Given the description of an element on the screen output the (x, y) to click on. 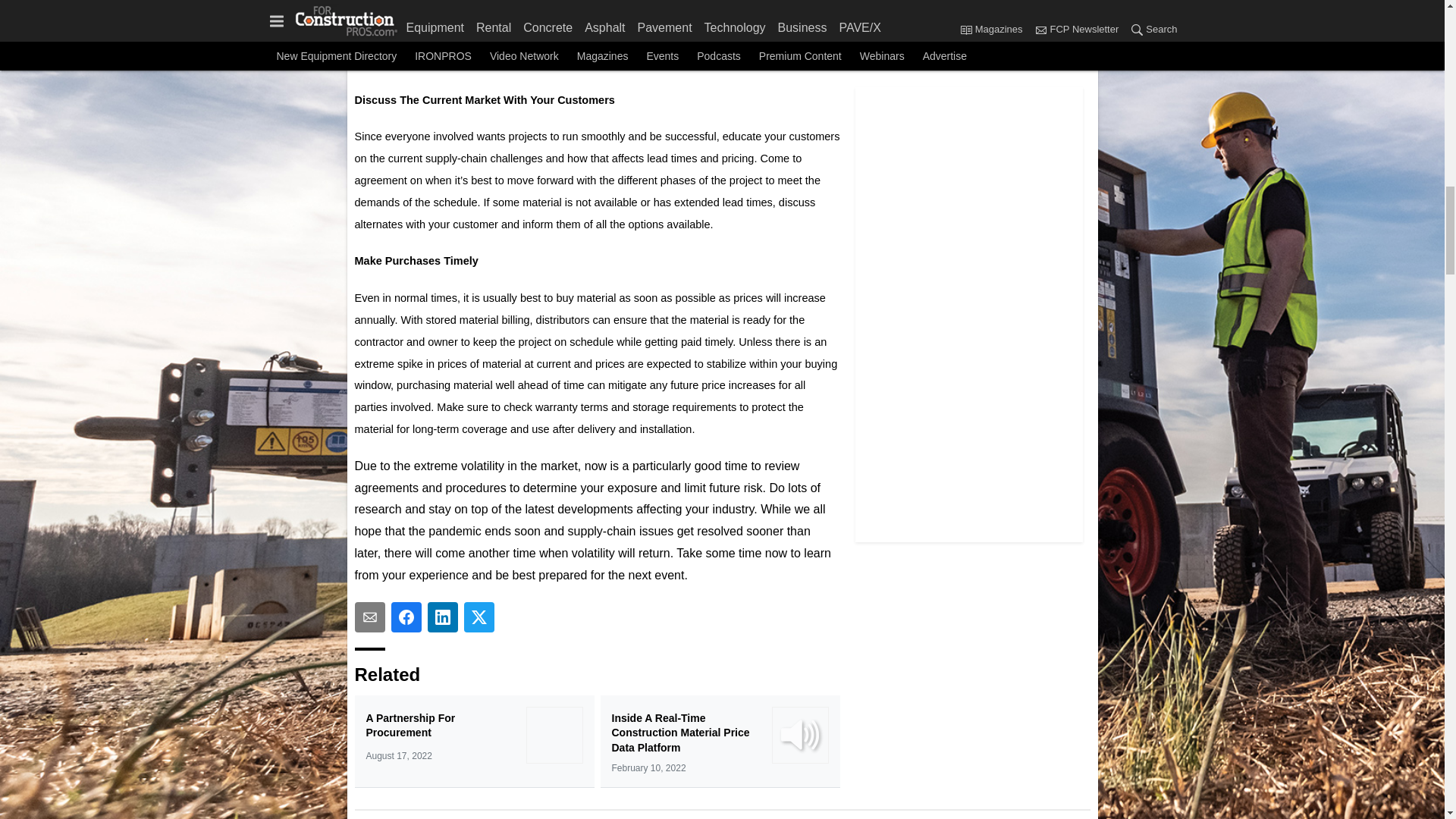
Share To twitter (479, 616)
Share To email (370, 616)
Share To facebook (406, 616)
3rd party ad content (969, 33)
Share To linkedin (443, 616)
